Given the description of an element on the screen output the (x, y) to click on. 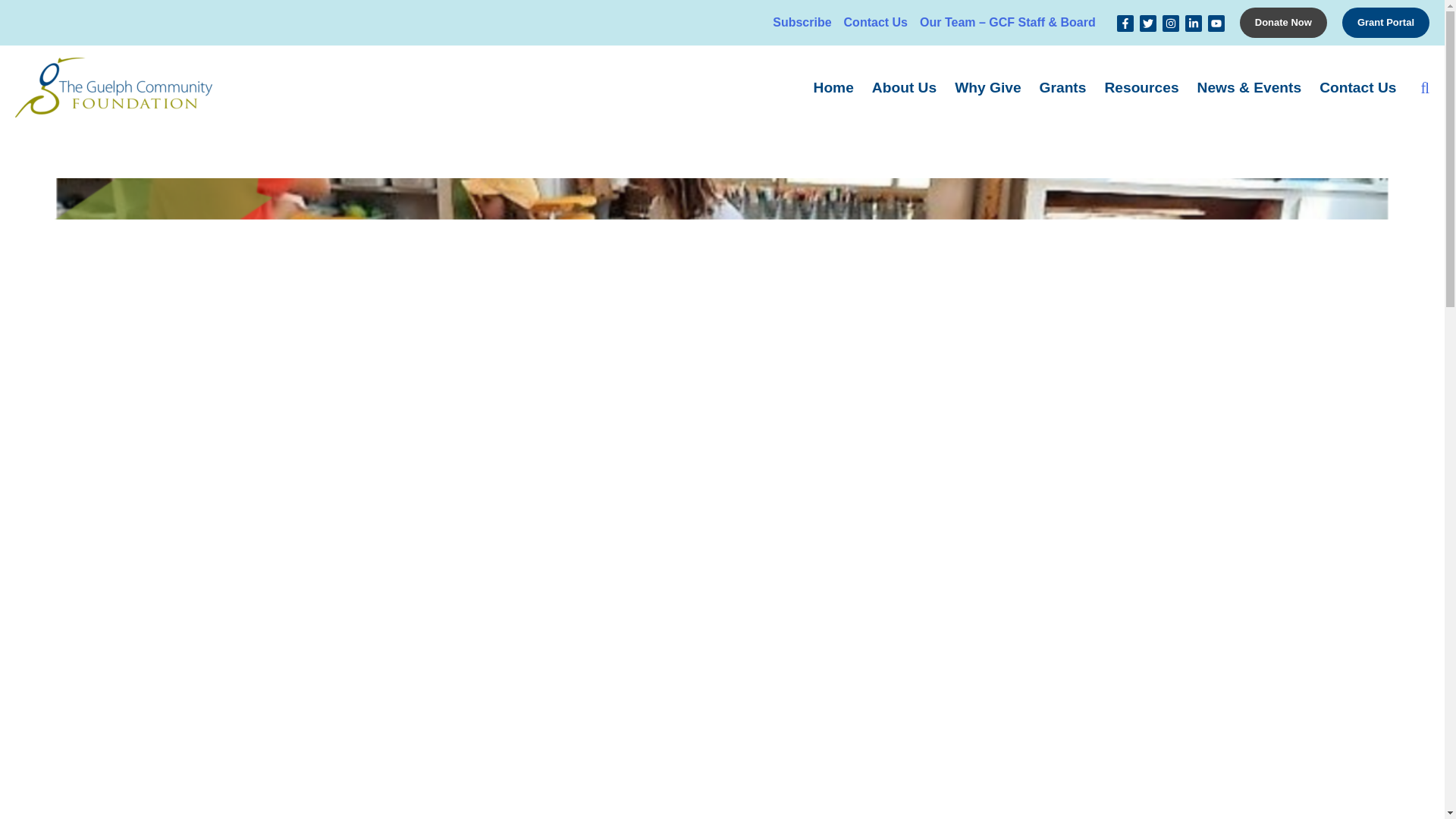
About Us (903, 87)
Subscribe (802, 22)
Donate Now (1283, 22)
Grants (1063, 87)
Why Give (986, 87)
Grant Portal (1385, 22)
Resources (1141, 87)
Contact Us (876, 22)
